Given the description of an element on the screen output the (x, y) to click on. 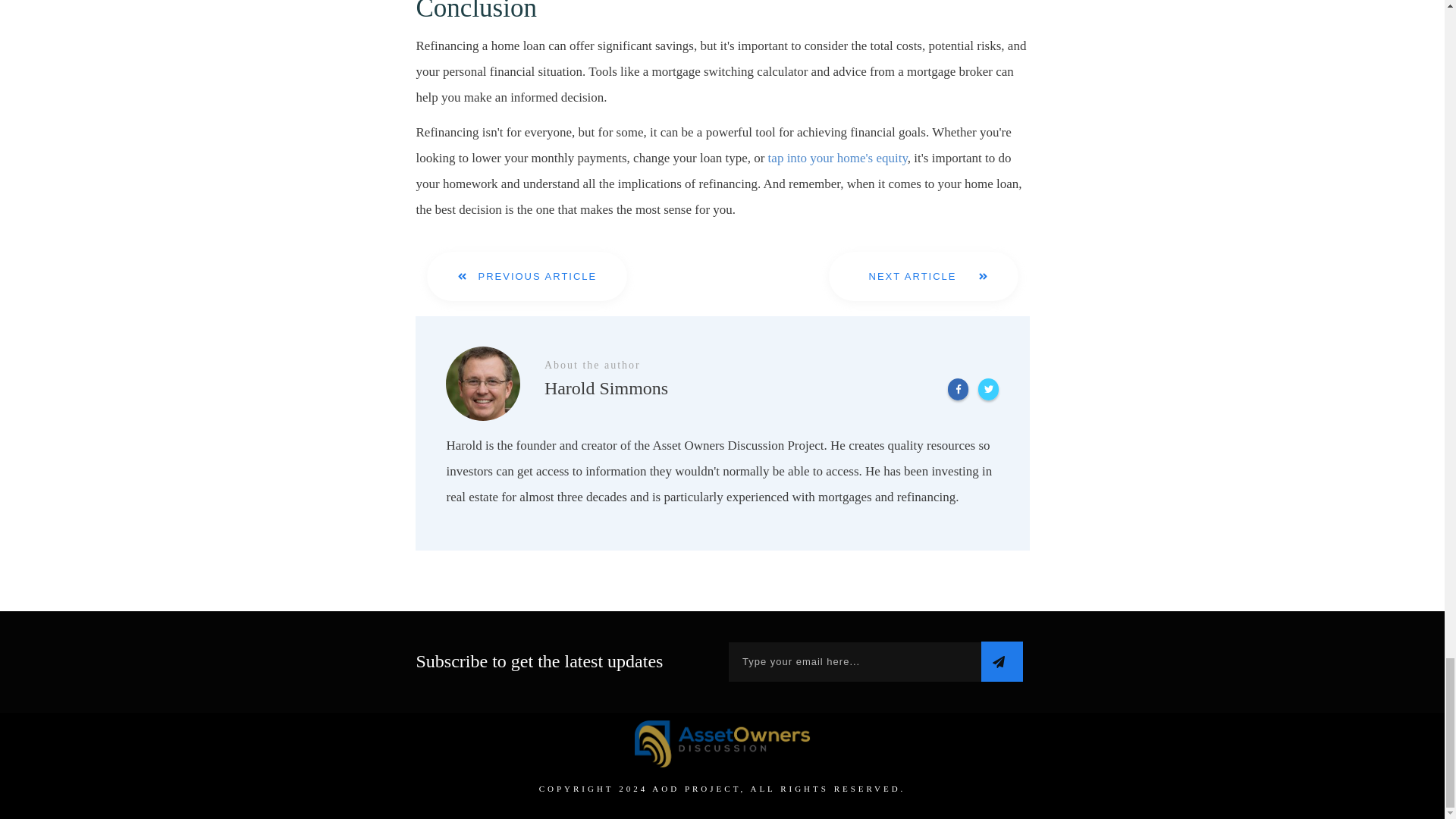
Harold Simmons (482, 383)
NEXT ARTICLE (922, 275)
PREVIOUS ARTICLE (526, 275)
tap into your home's equity (835, 157)
